Given the description of an element on the screen output the (x, y) to click on. 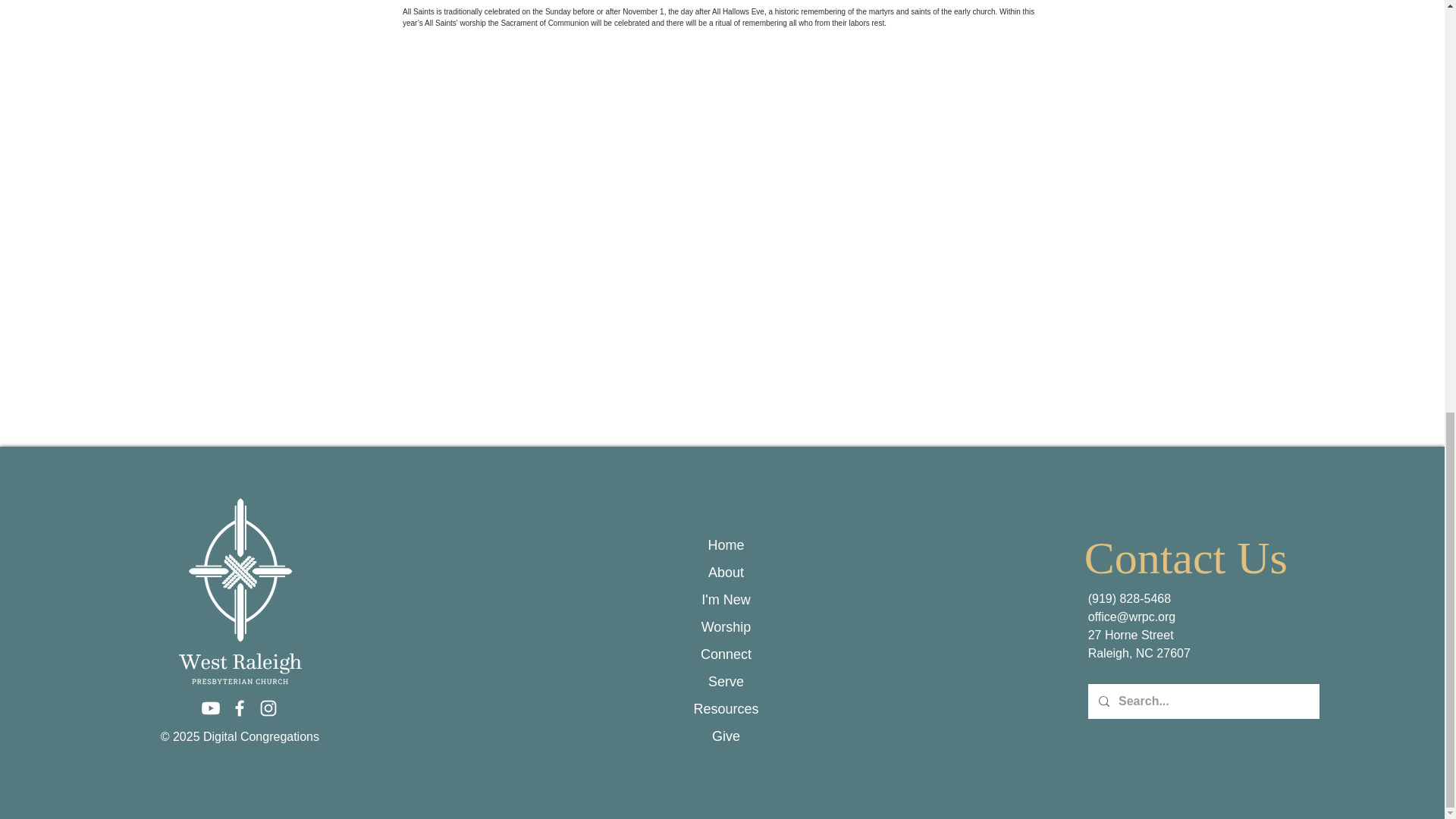
Home (725, 544)
